Given the description of an element on the screen output the (x, y) to click on. 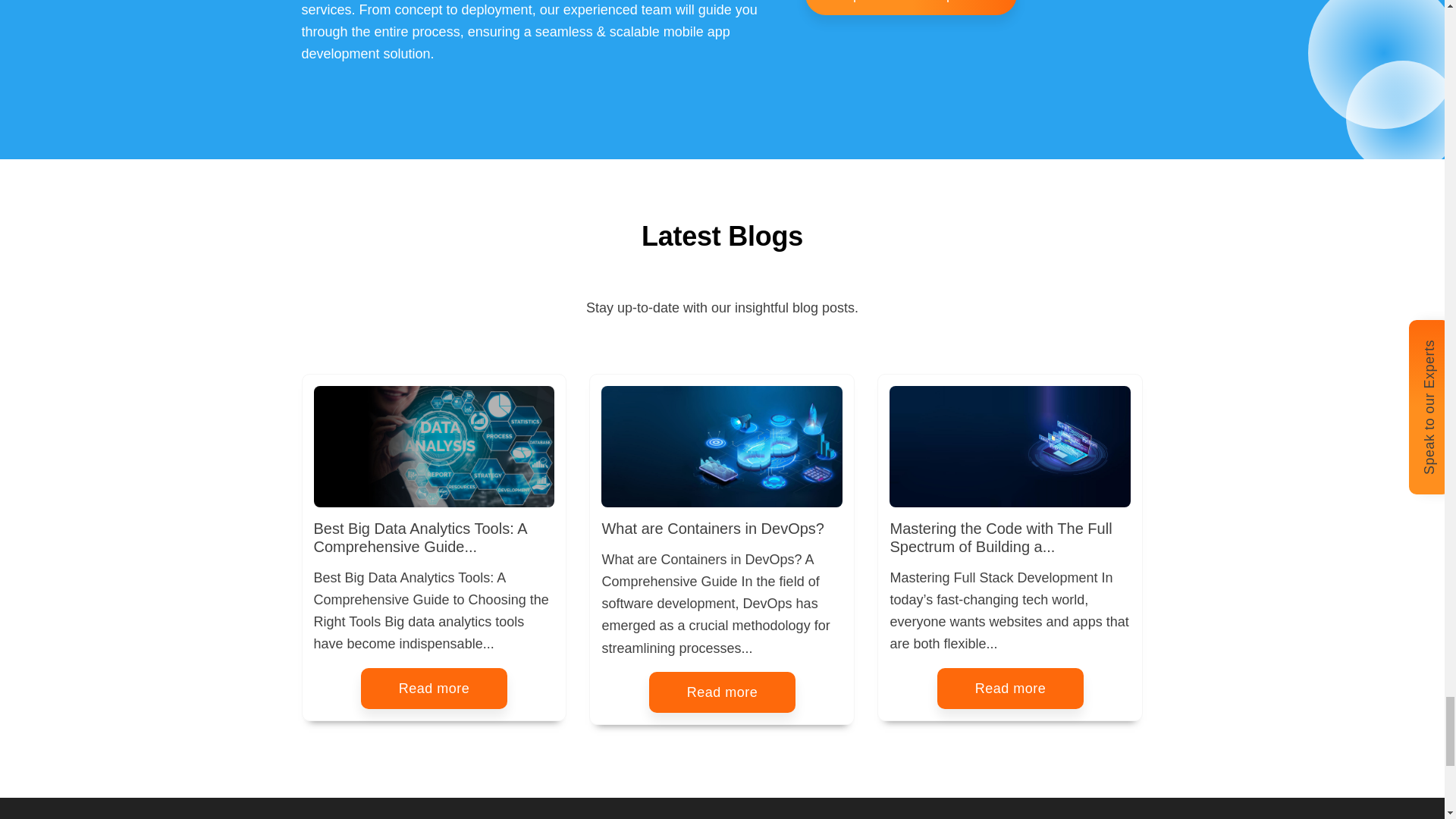
Read more (434, 688)
Read more (722, 691)
Read more (1010, 688)
Speak to our Experts (910, 7)
